Given the description of an element on the screen output the (x, y) to click on. 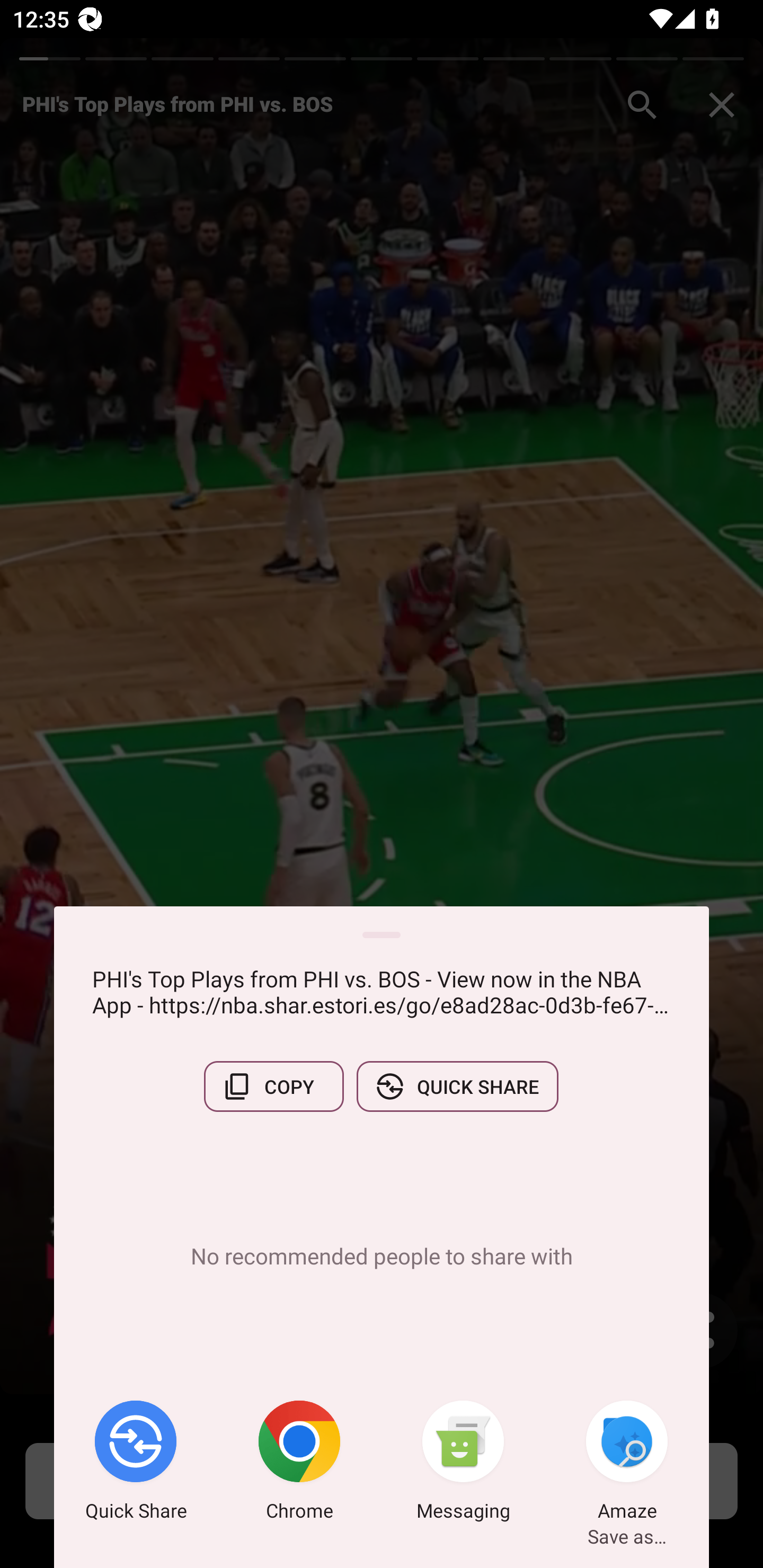
COPY (273, 1086)
QUICK SHARE (457, 1086)
Quick Share (135, 1463)
Chrome (299, 1463)
Messaging (463, 1463)
Amaze Save as… (626, 1463)
